Given the description of an element on the screen output the (x, y) to click on. 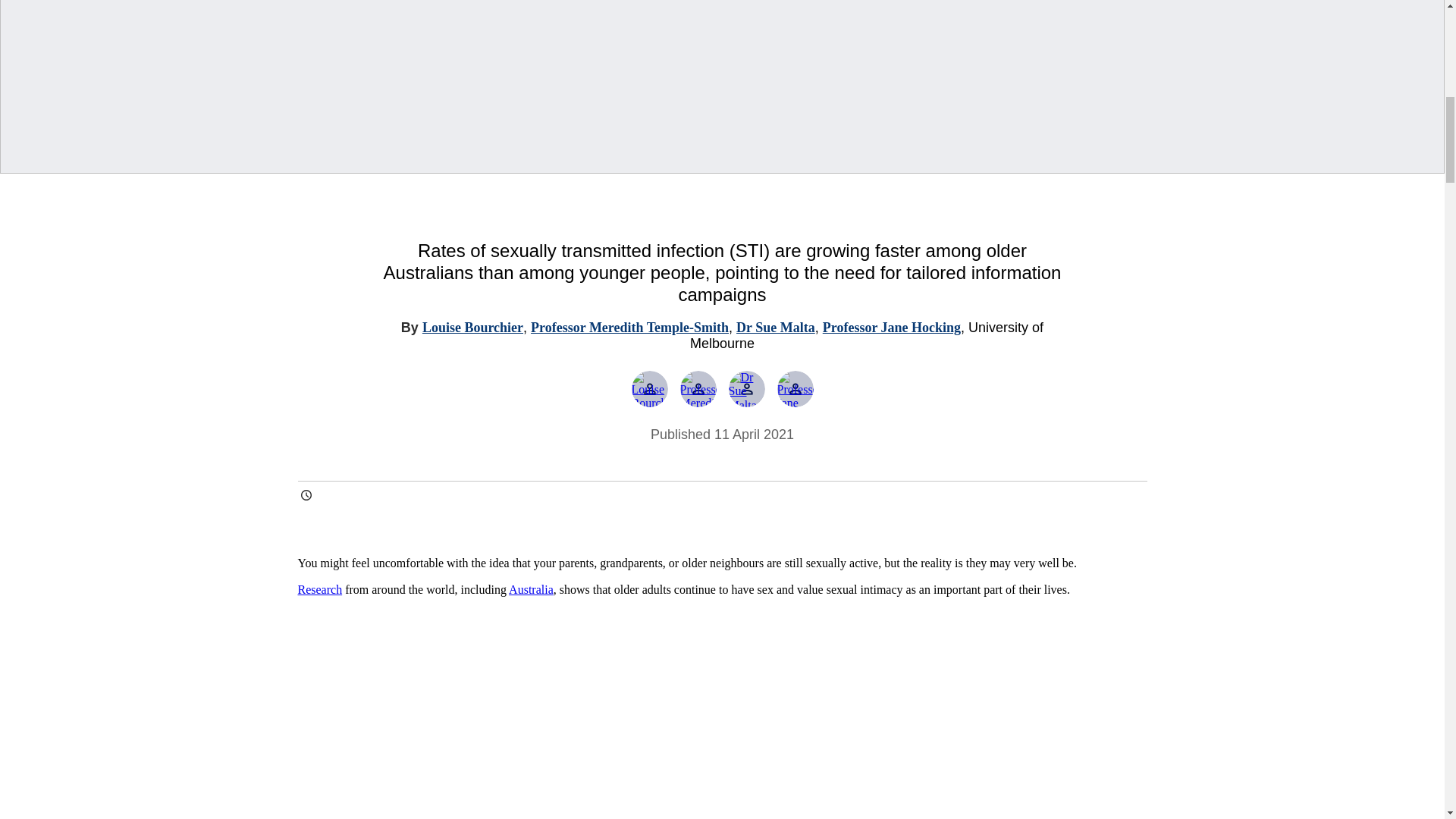
Louise Bourchier  (648, 389)
Professor Meredith Temple-Smith (630, 327)
Dr Sue Malta (746, 389)
Professor Jane Hocking (891, 327)
Professor Jane Hocking (794, 389)
Research (319, 589)
Dr Sue Malta (775, 327)
Louise Bourchier (472, 327)
Professor Meredith Temple-Smith (697, 389)
Australia (530, 589)
